Given the description of an element on the screen output the (x, y) to click on. 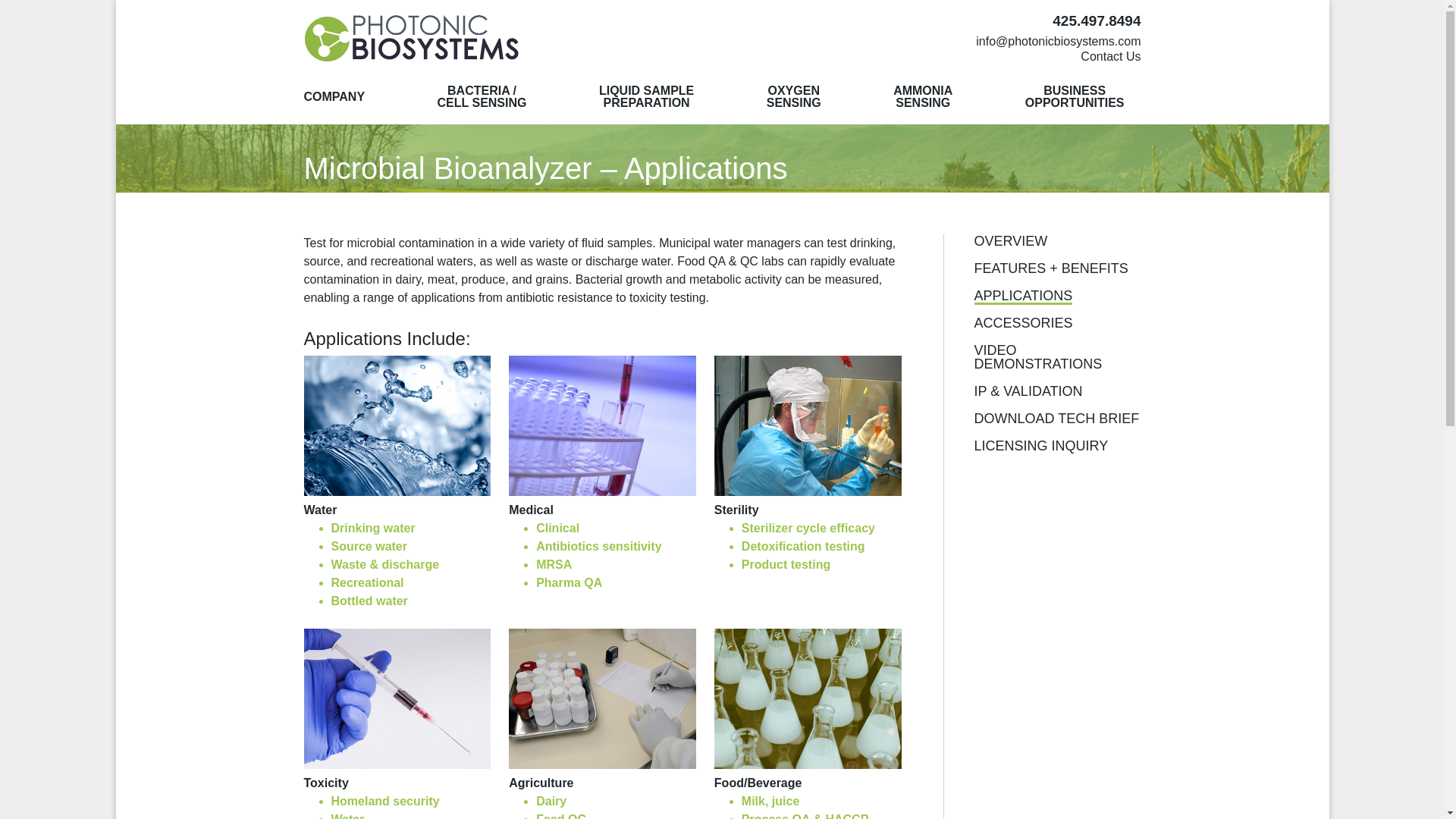
APPLICATIONS (1022, 296)
LICENSING INQUIRY (646, 100)
425.497.8494 (1041, 446)
OVERVIEW (1057, 22)
COMPANY (794, 100)
ACCESSORIES (1010, 242)
Contact Us (333, 100)
DOWNLOAD TECH BRIEF (1074, 100)
VIDEO DEMONSTRATIONS (1022, 324)
